Given the description of an element on the screen output the (x, y) to click on. 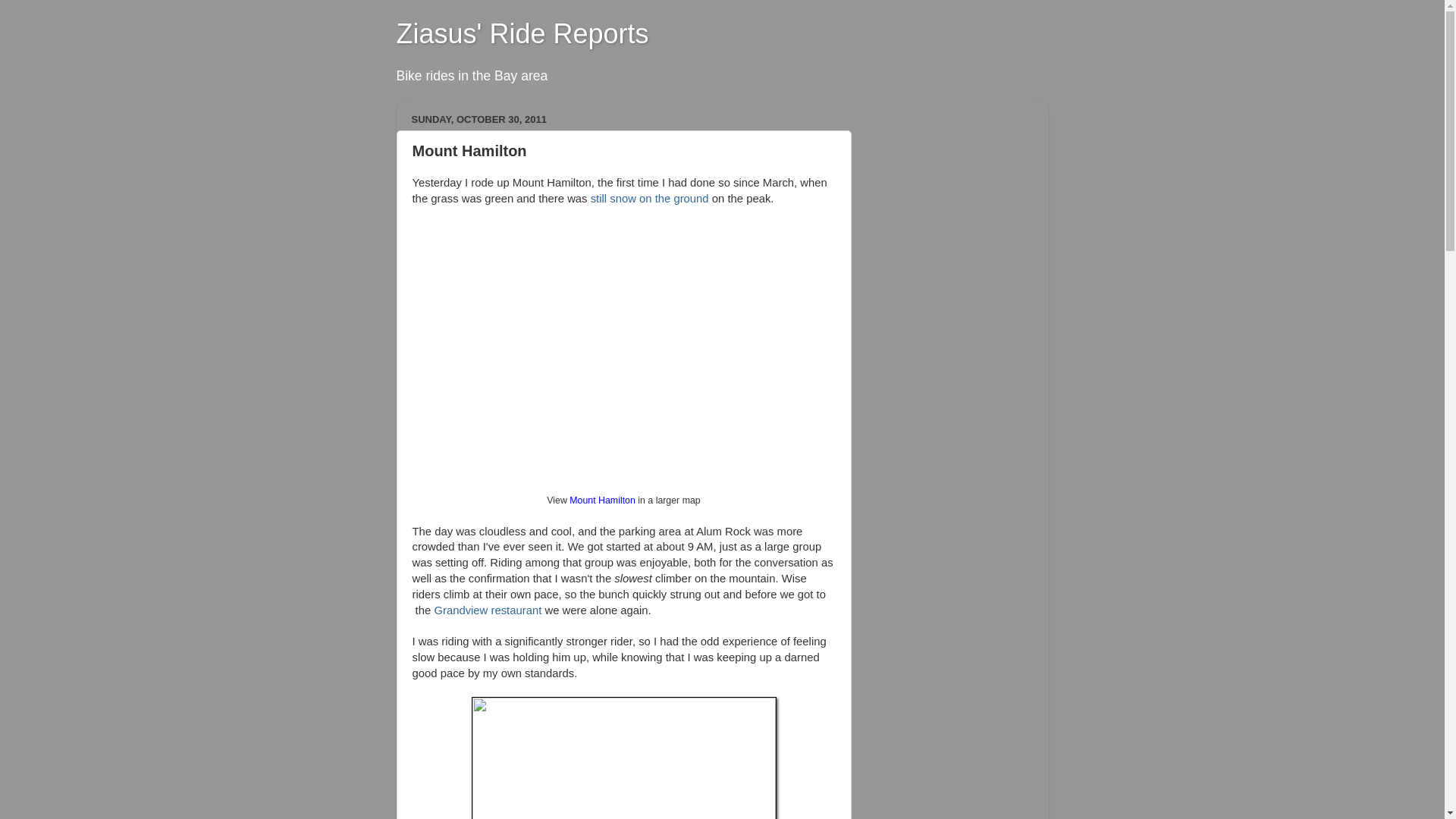
still snow on the ground (650, 198)
Mount Hamilton (601, 500)
Ziasus' Ride Reports (521, 33)
Grandview restaurant (487, 610)
